Given the description of an element on the screen output the (x, y) to click on. 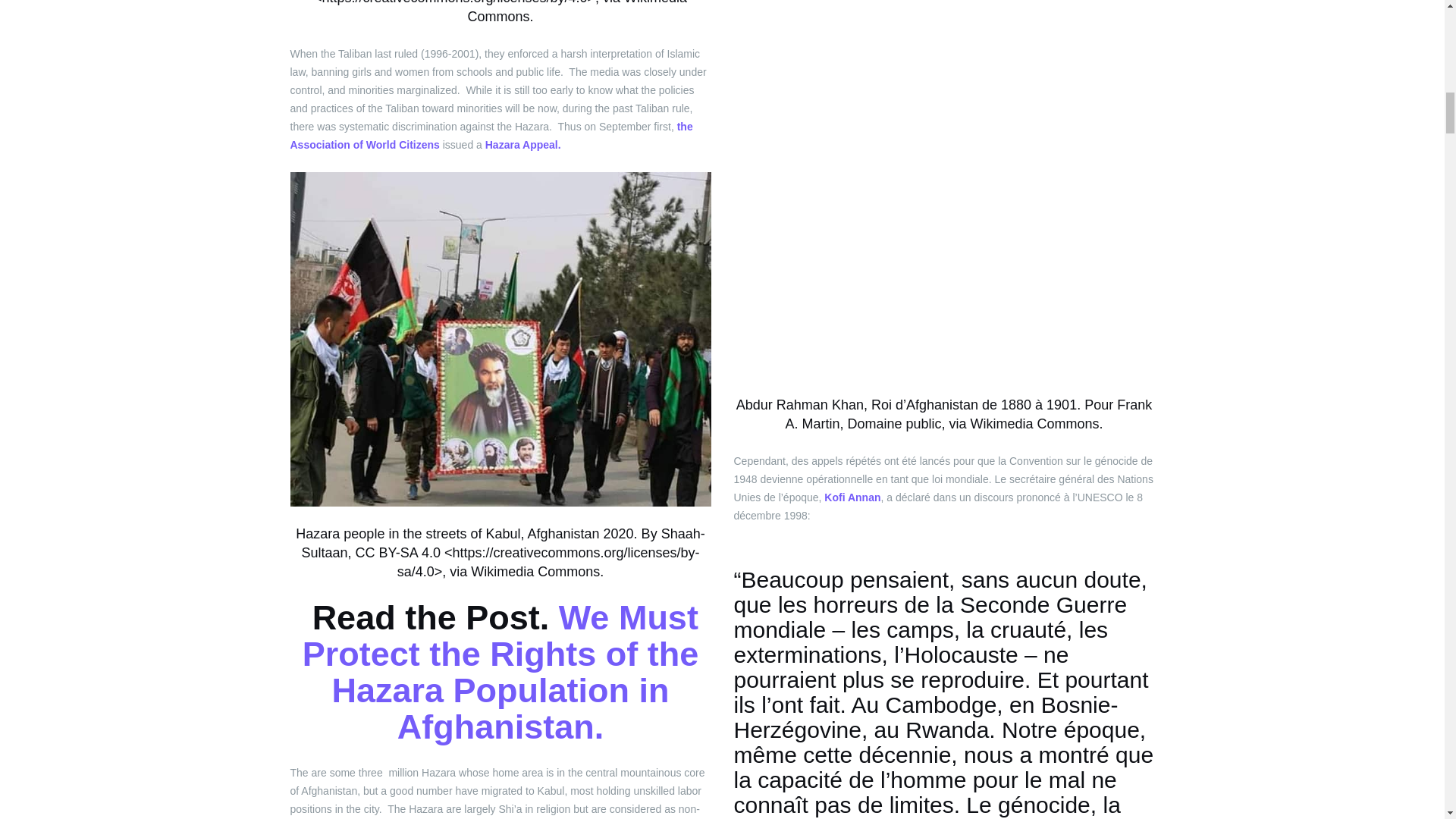
Hazara Appeal. (522, 144)
the Association of World Citizens (491, 135)
